Given the description of an element on the screen output the (x, y) to click on. 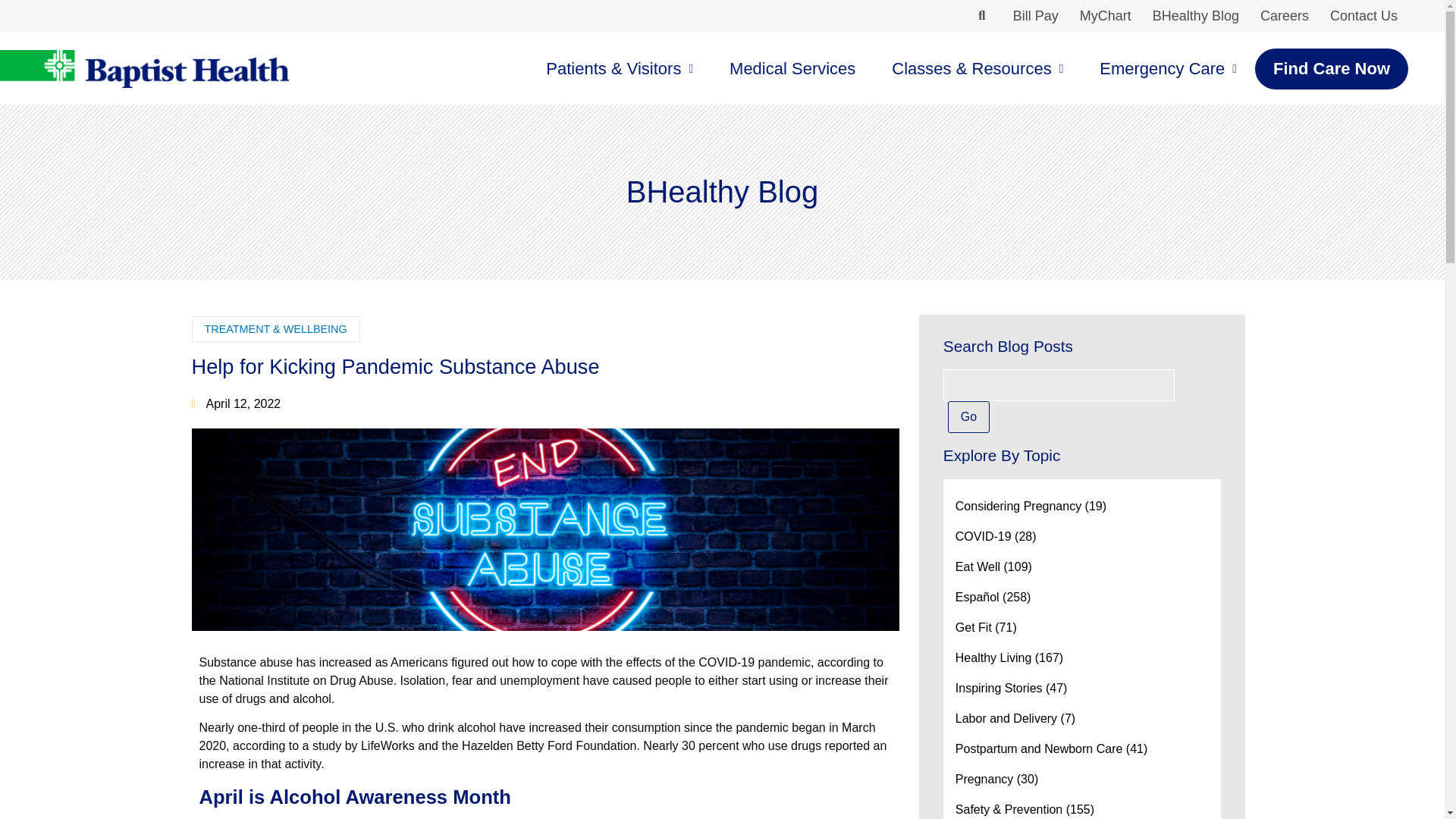
Find Care Now (1331, 68)
Bill Pay (1035, 15)
Go (968, 417)
Contact Us (1363, 15)
Emergency Care (1168, 68)
BHealthy Blog (1195, 15)
Go (968, 417)
Careers (1284, 15)
Medical Services (792, 68)
MyChart (1104, 15)
